Given the description of an element on the screen output the (x, y) to click on. 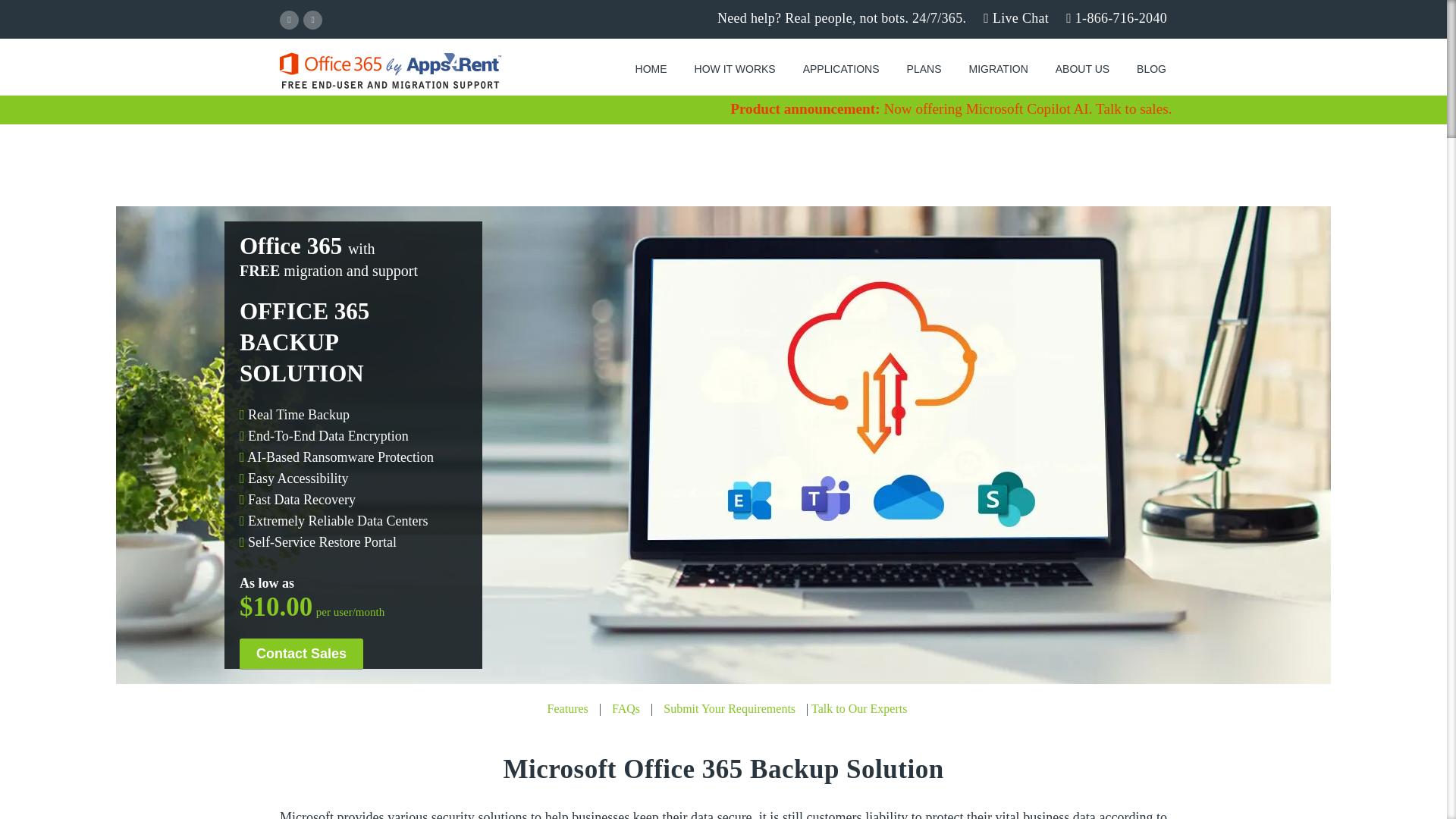
APPLICATIONS (841, 68)
1-866-716-2040 (1116, 18)
HOW IT WORKS (735, 68)
HOME (651, 68)
Live Chat (1016, 18)
